Given the description of an element on the screen output the (x, y) to click on. 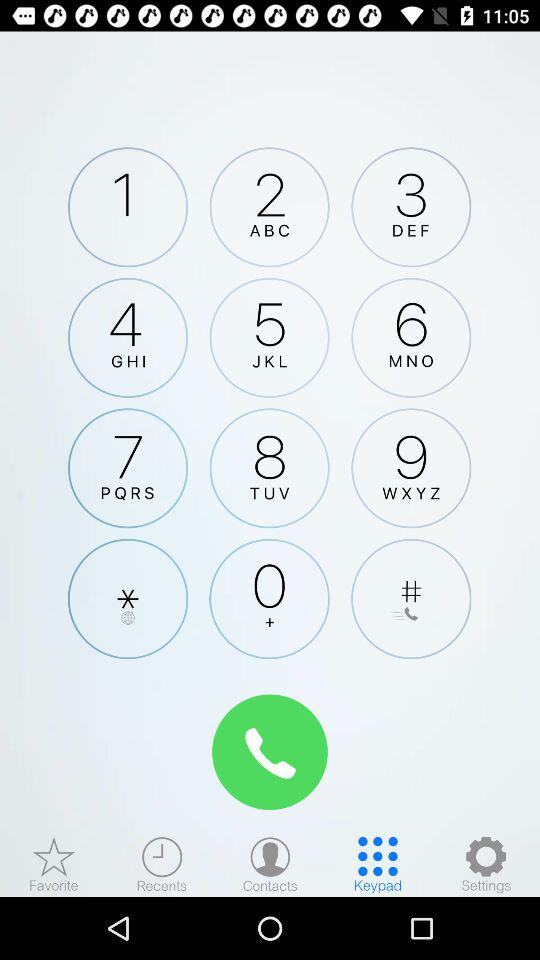
dial option (269, 598)
